Given the description of an element on the screen output the (x, y) to click on. 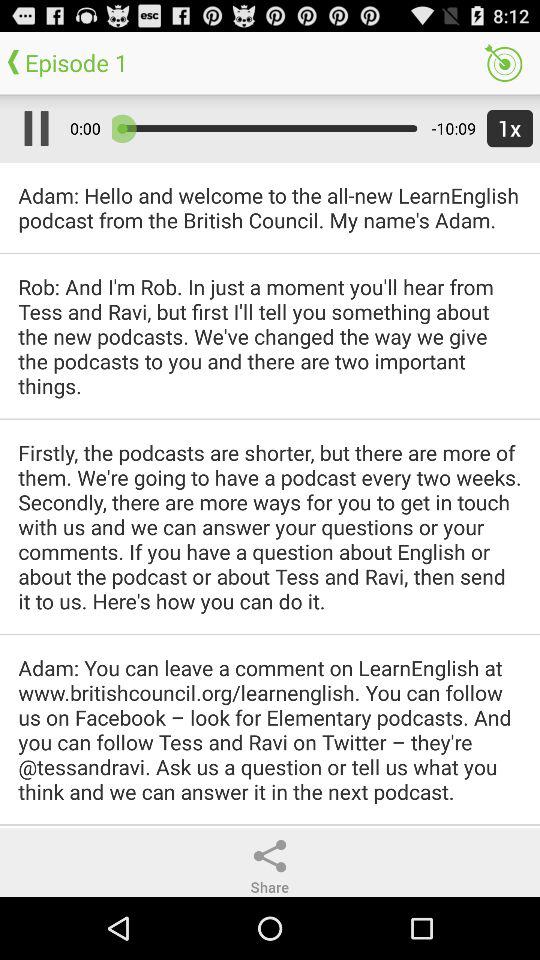
press firstly the podcasts icon (270, 526)
